Given the description of an element on the screen output the (x, y) to click on. 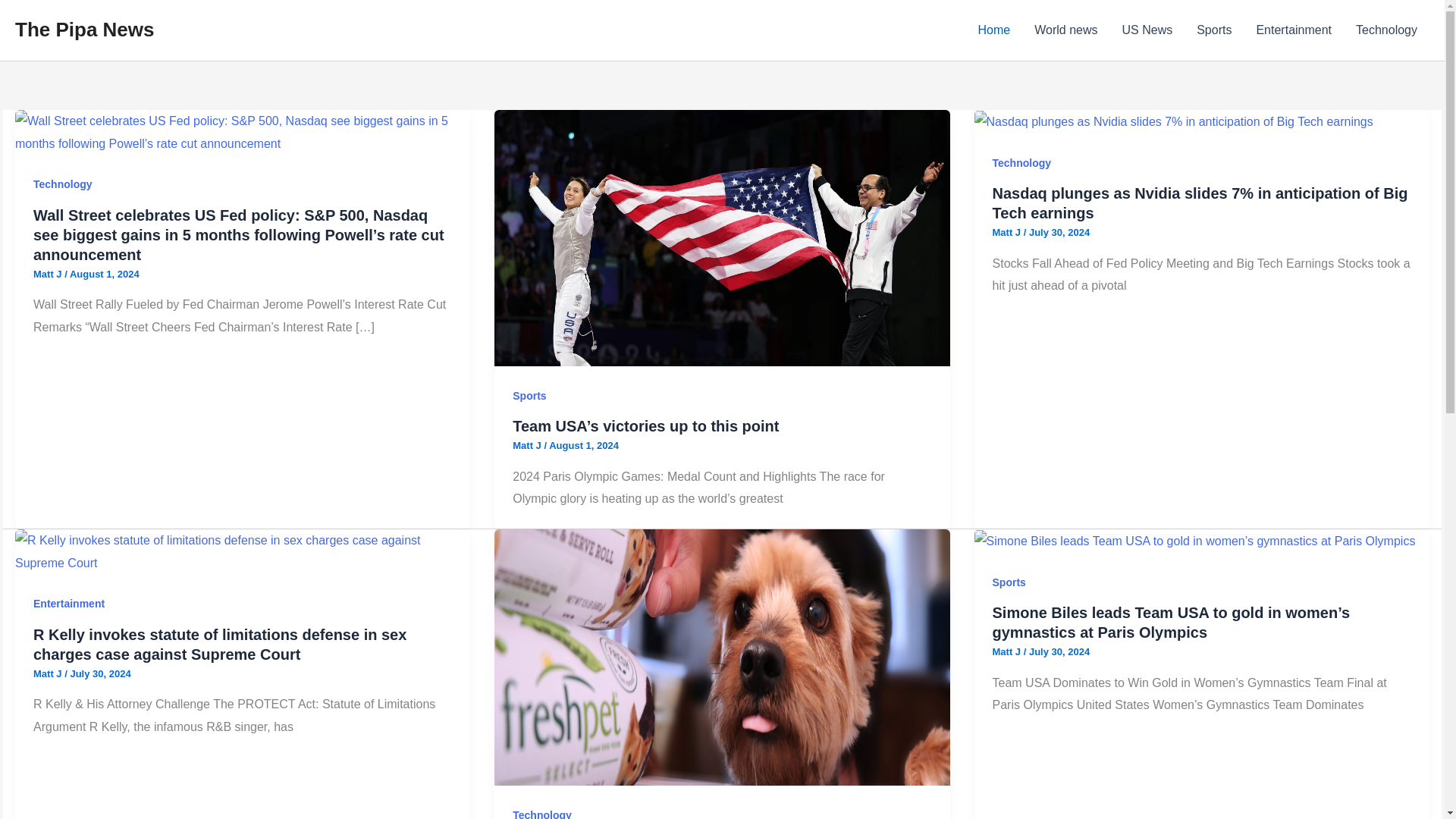
Entertainment (1293, 30)
Entertainment (68, 603)
Sports (529, 395)
Matt J (48, 673)
Matt J (527, 445)
Matt J (1007, 651)
Sports (1214, 30)
Technology (1021, 162)
Matt J (1007, 232)
